Given the description of an element on the screen output the (x, y) to click on. 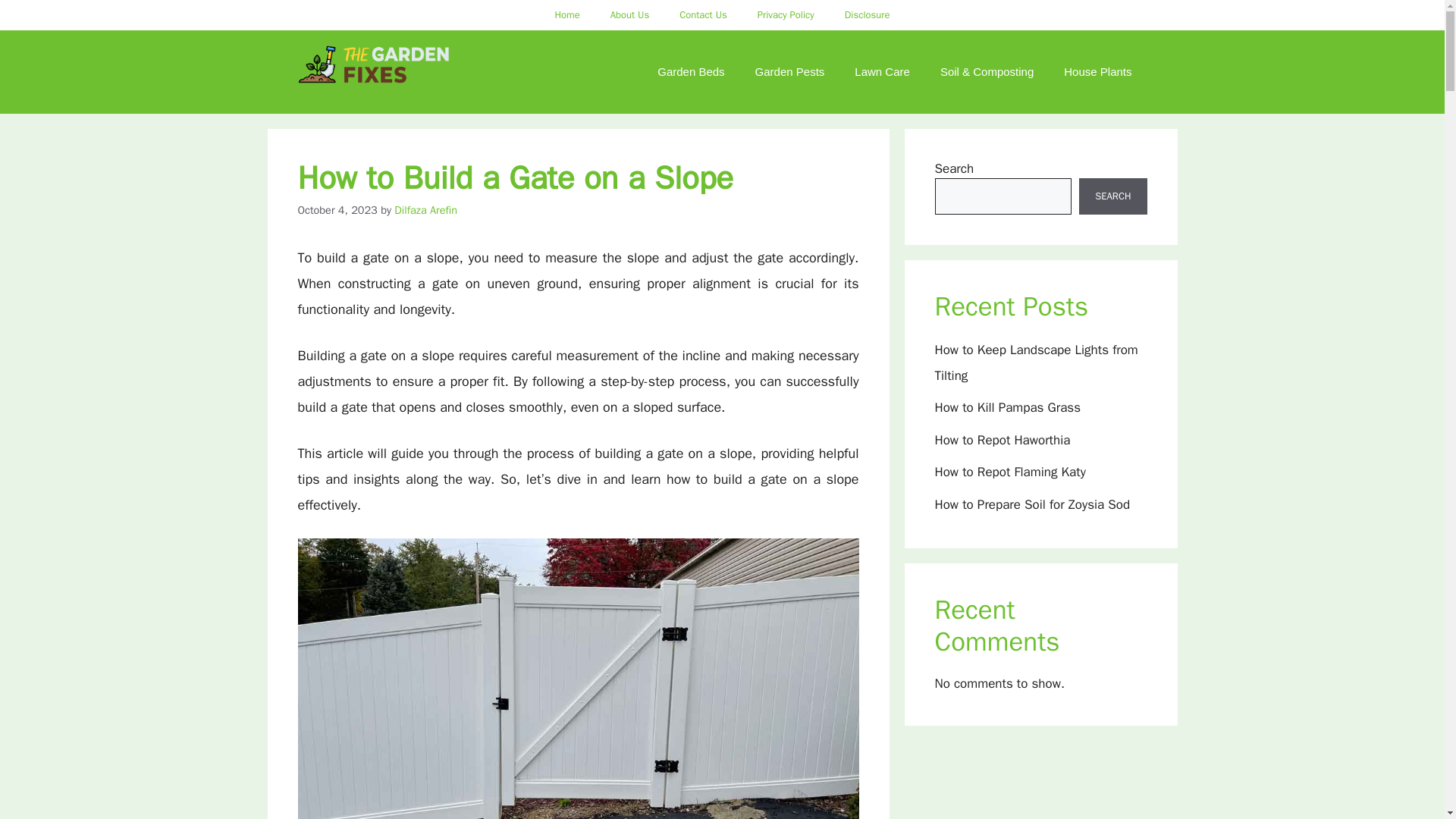
About Us (629, 15)
Garden Beds (690, 72)
How to Repot Haworthia (1002, 439)
How to Repot Flaming Katy (1009, 471)
View all posts by Dilfaza Arefin (425, 210)
Disclosure (867, 15)
Contact Us (702, 15)
Garden Pests (789, 72)
How to Kill Pampas Grass (1007, 407)
Home (566, 15)
